Given the description of an element on the screen output the (x, y) to click on. 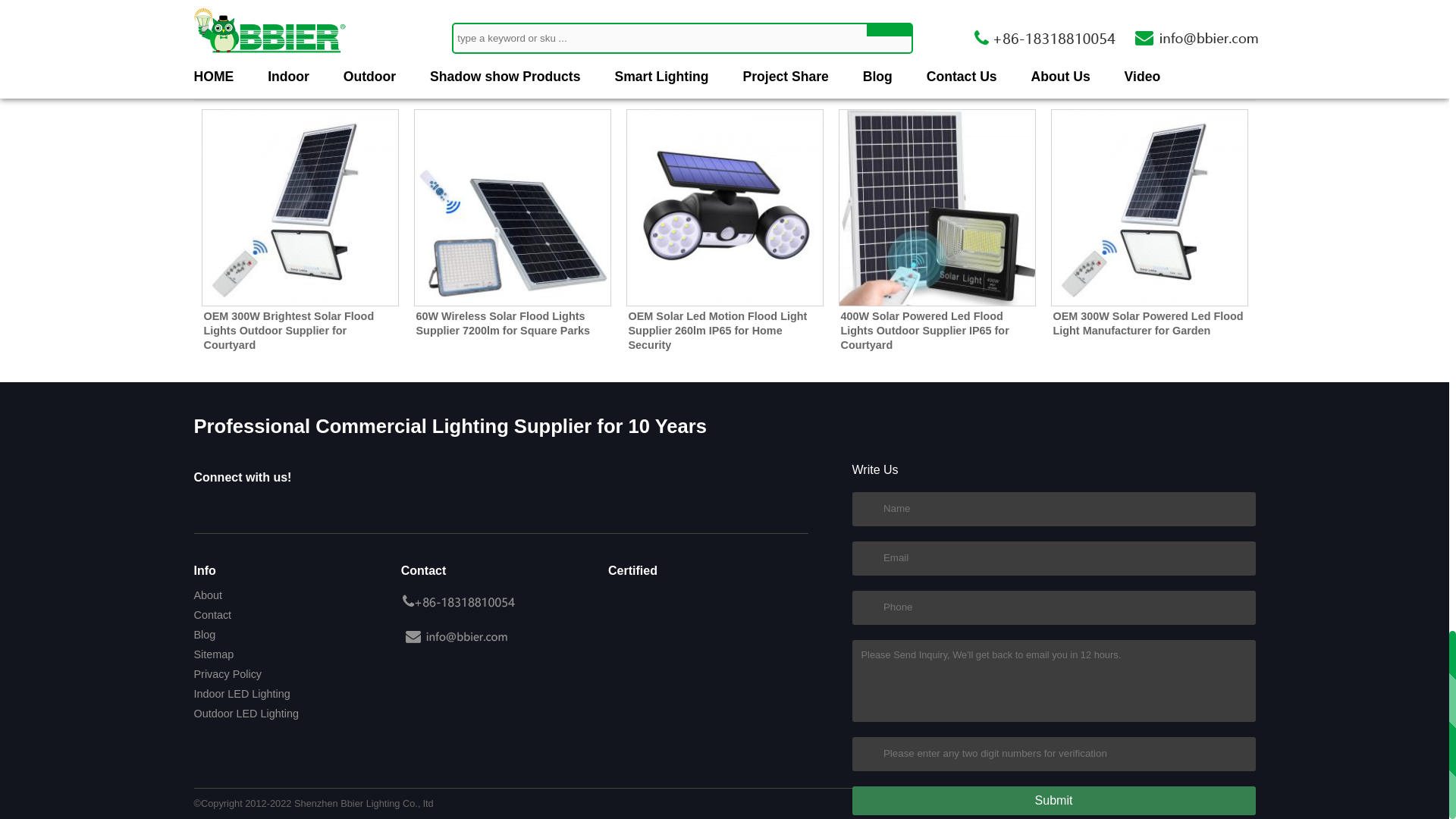
Submit (1053, 800)
